Given the description of an element on the screen output the (x, y) to click on. 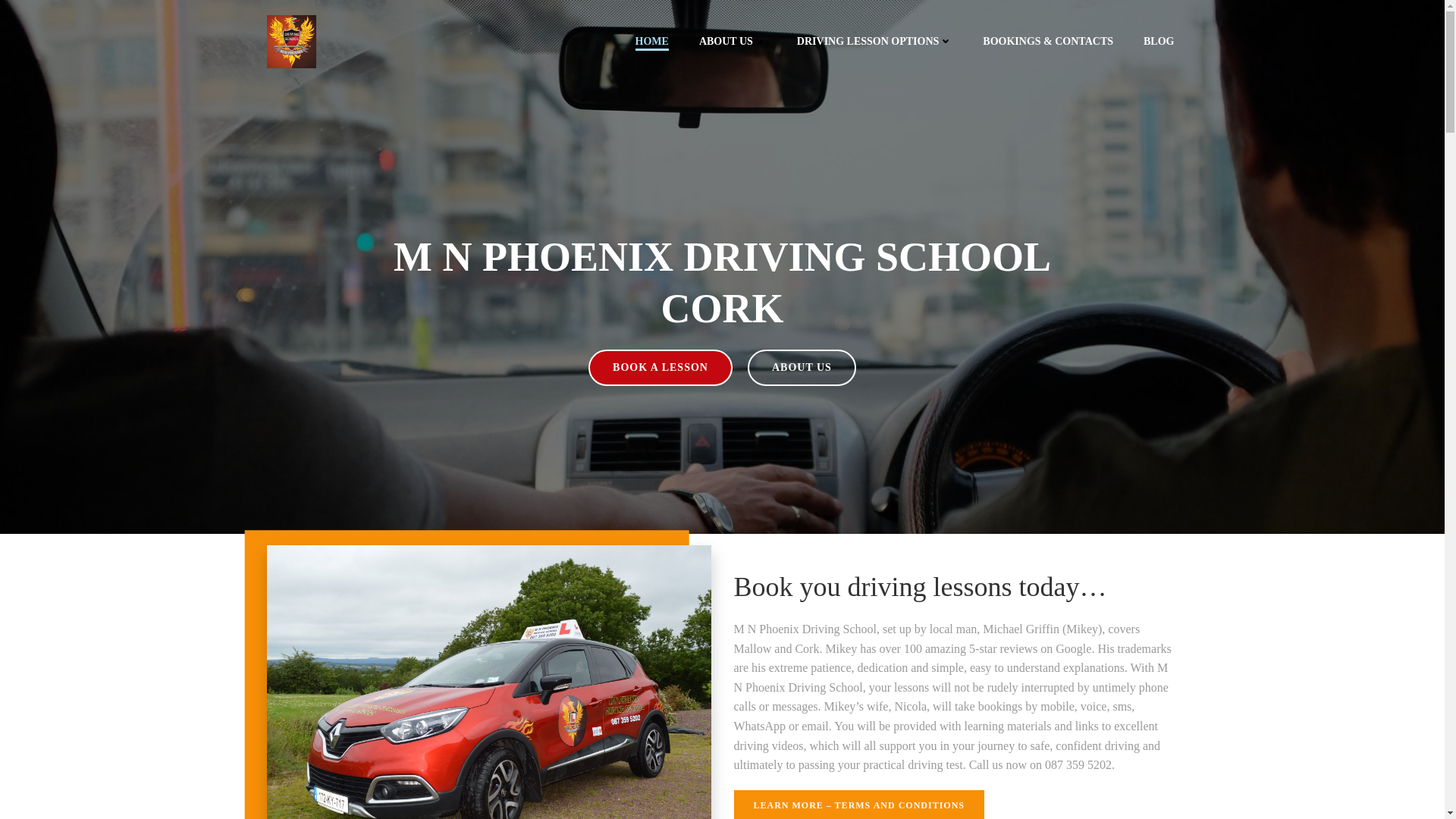
DRIVING LESSON OPTIONS (874, 41)
HOME (651, 41)
ABOUT US (802, 367)
BOOK A LESSON (660, 367)
M N Phoenix Driving School home page  (651, 41)
BLOG (1157, 41)
ABOUT US (732, 41)
